Given the description of an element on the screen output the (x, y) to click on. 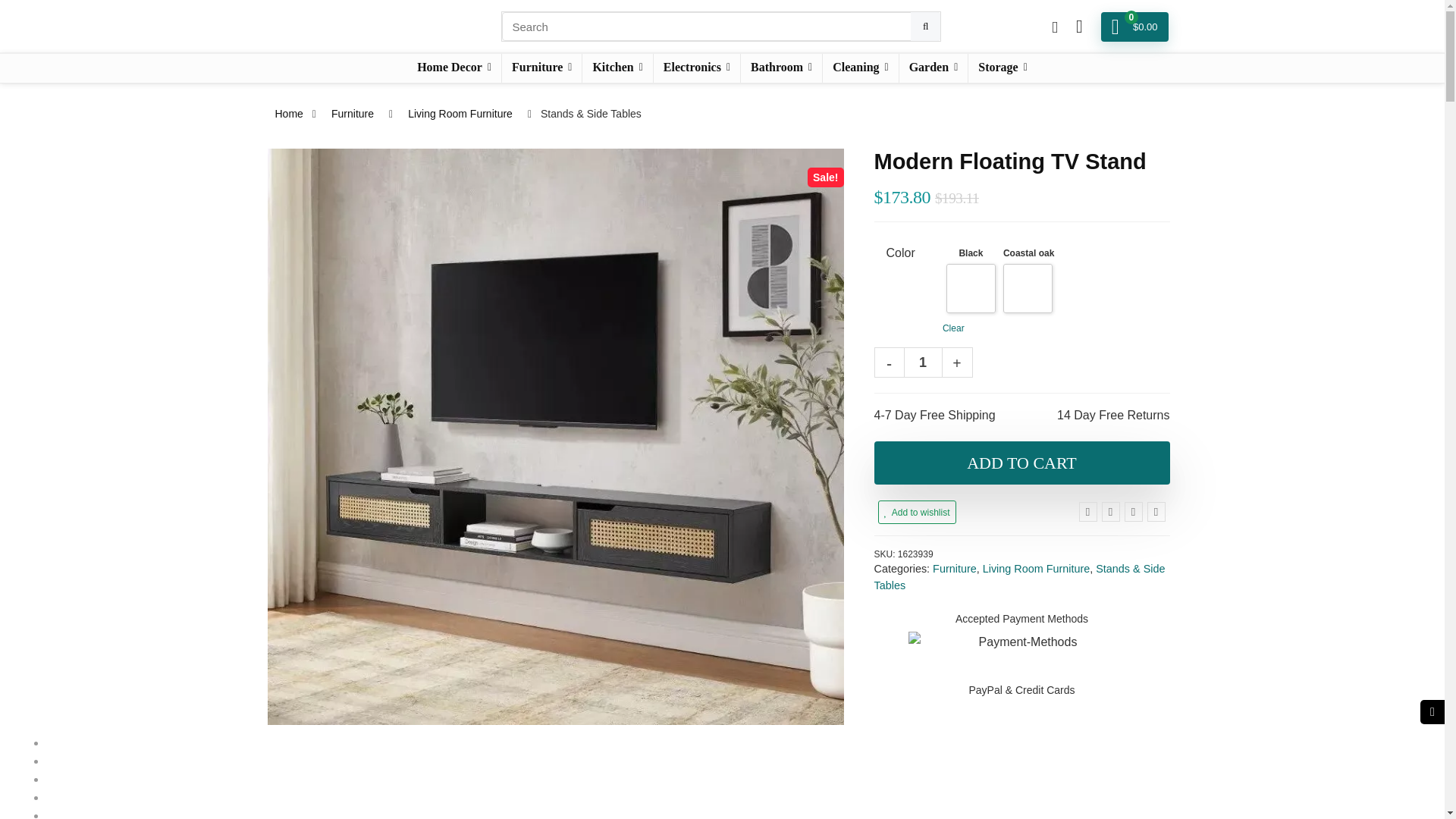
Black (970, 288)
Kitchen (617, 68)
Coastal oak (1027, 288)
Furniture (541, 68)
- (888, 362)
Home Decor (453, 68)
1 (923, 362)
Electronics (696, 68)
Qty (923, 362)
